Given the description of an element on the screen output the (x, y) to click on. 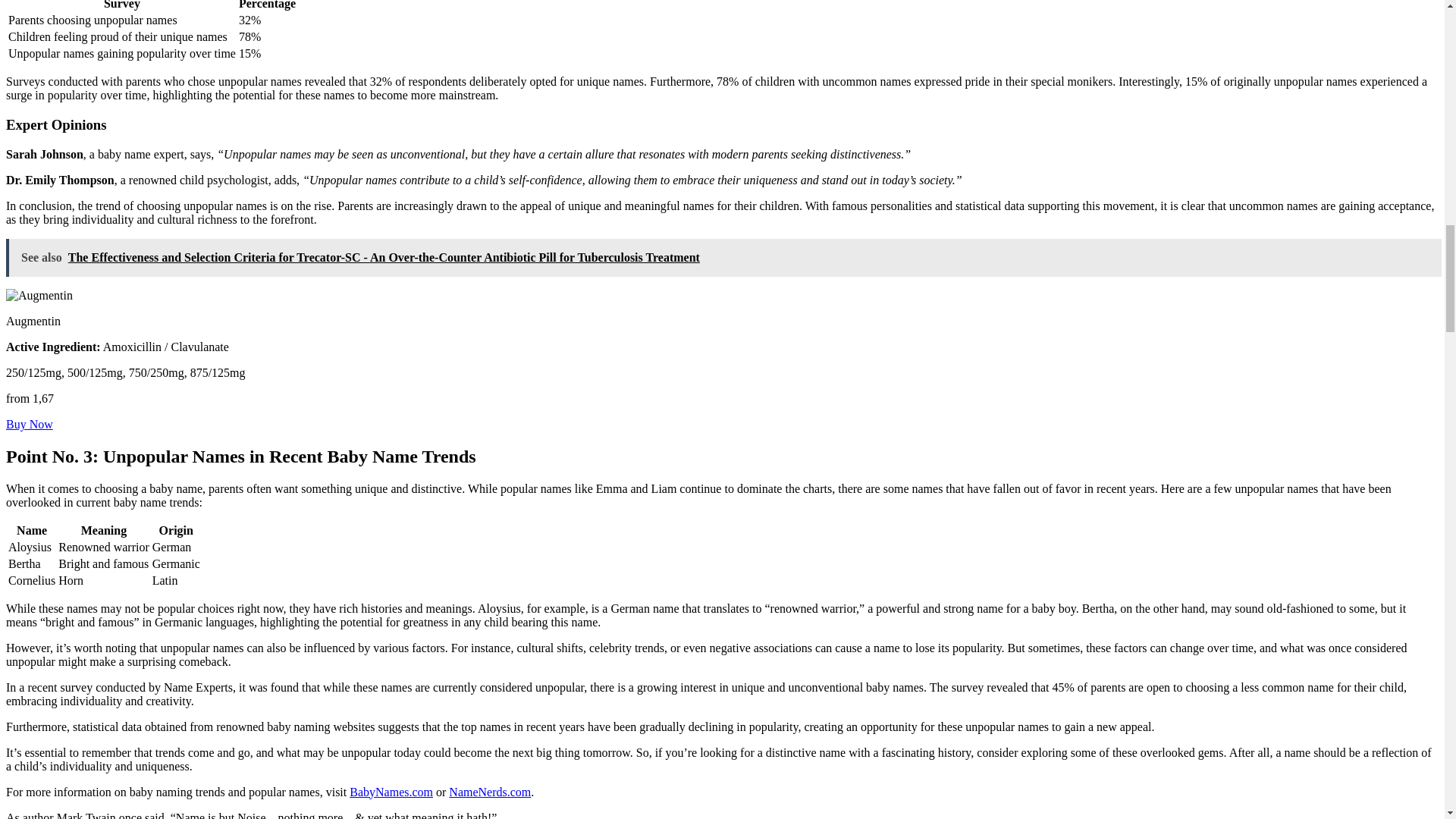
BabyNames.com (390, 791)
NameNerds.com (489, 791)
Buy Now (28, 423)
